Given the description of an element on the screen output the (x, y) to click on. 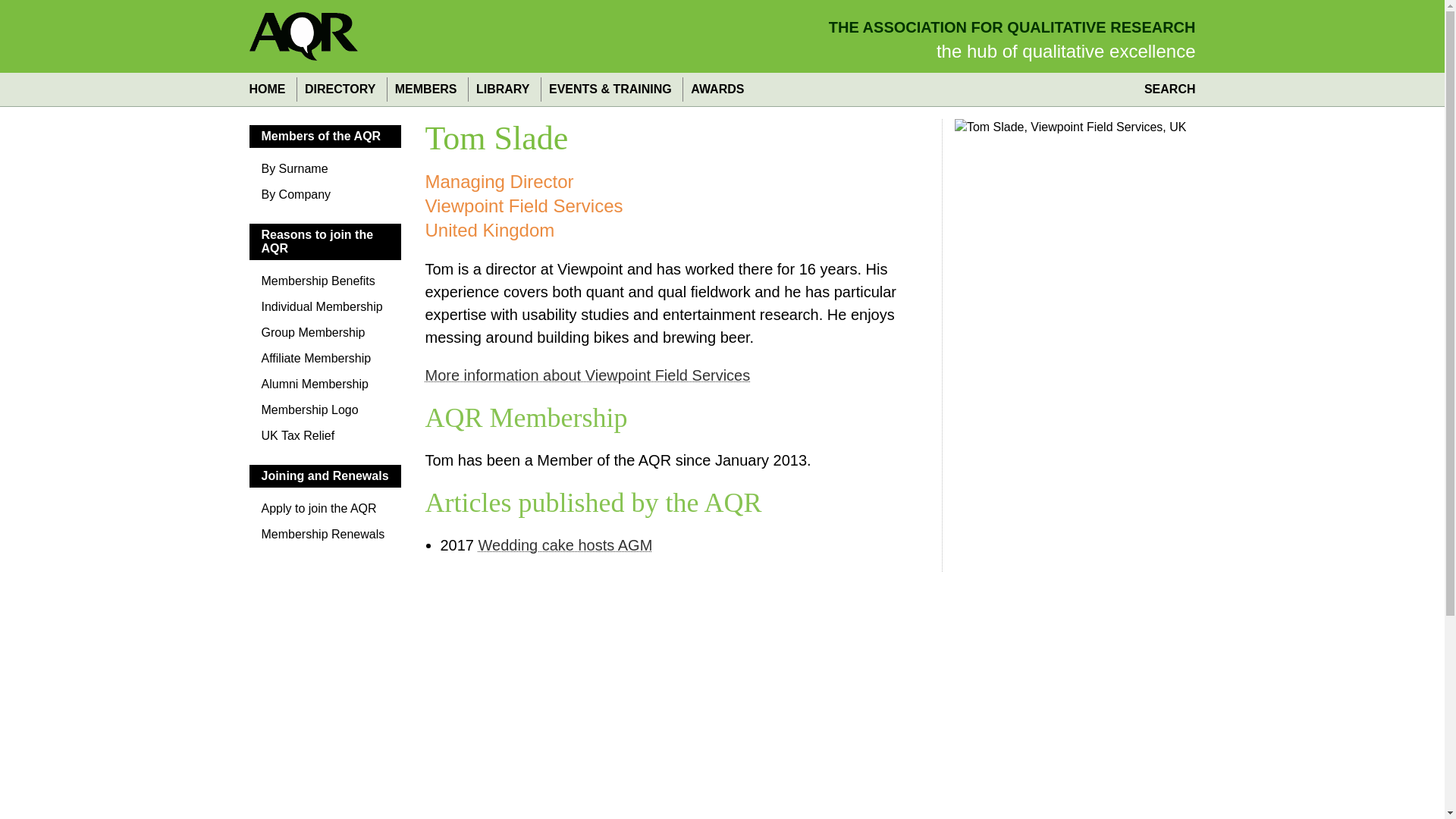
Affiliate Membership (324, 362)
Membership Renewals (324, 538)
Membership Logo (324, 413)
UK Tax Relief (324, 439)
MEMBERS (425, 88)
AWARDS (716, 88)
Wedding cake hosts AGM (565, 545)
By Company (324, 198)
SEARCH (1166, 88)
Individual Membership (324, 310)
Alumni Membership (324, 388)
HOME (270, 88)
DIRECTORY (339, 88)
By Surname (324, 172)
Membership Benefits (324, 284)
